Given the description of an element on the screen output the (x, y) to click on. 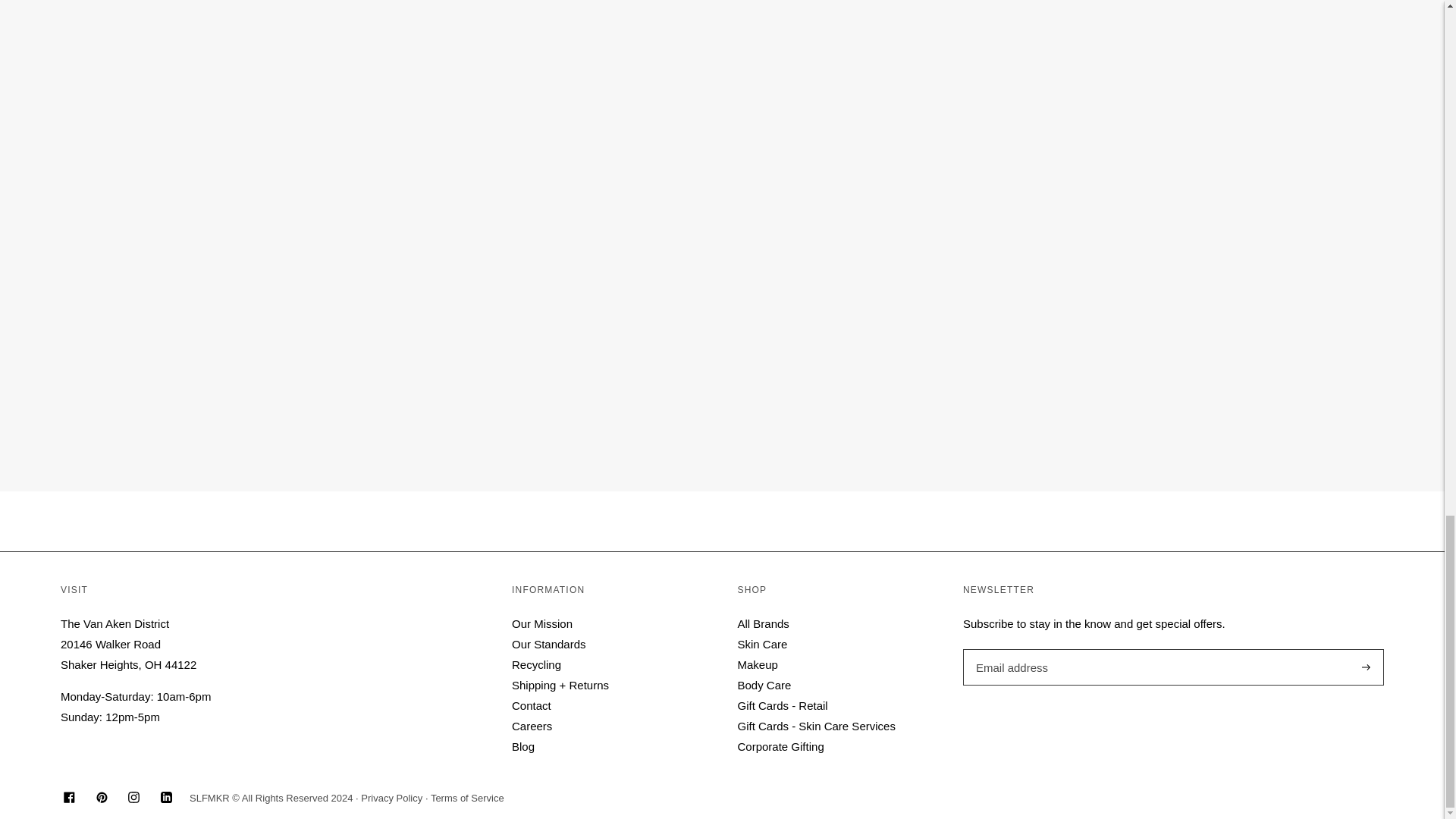
SLFMKR on Linkedin (165, 799)
SLFMKR on Instagram (133, 799)
SLFMKR on Facebook (69, 799)
SLFMKR on Pinterest (101, 799)
